Given the description of an element on the screen output the (x, y) to click on. 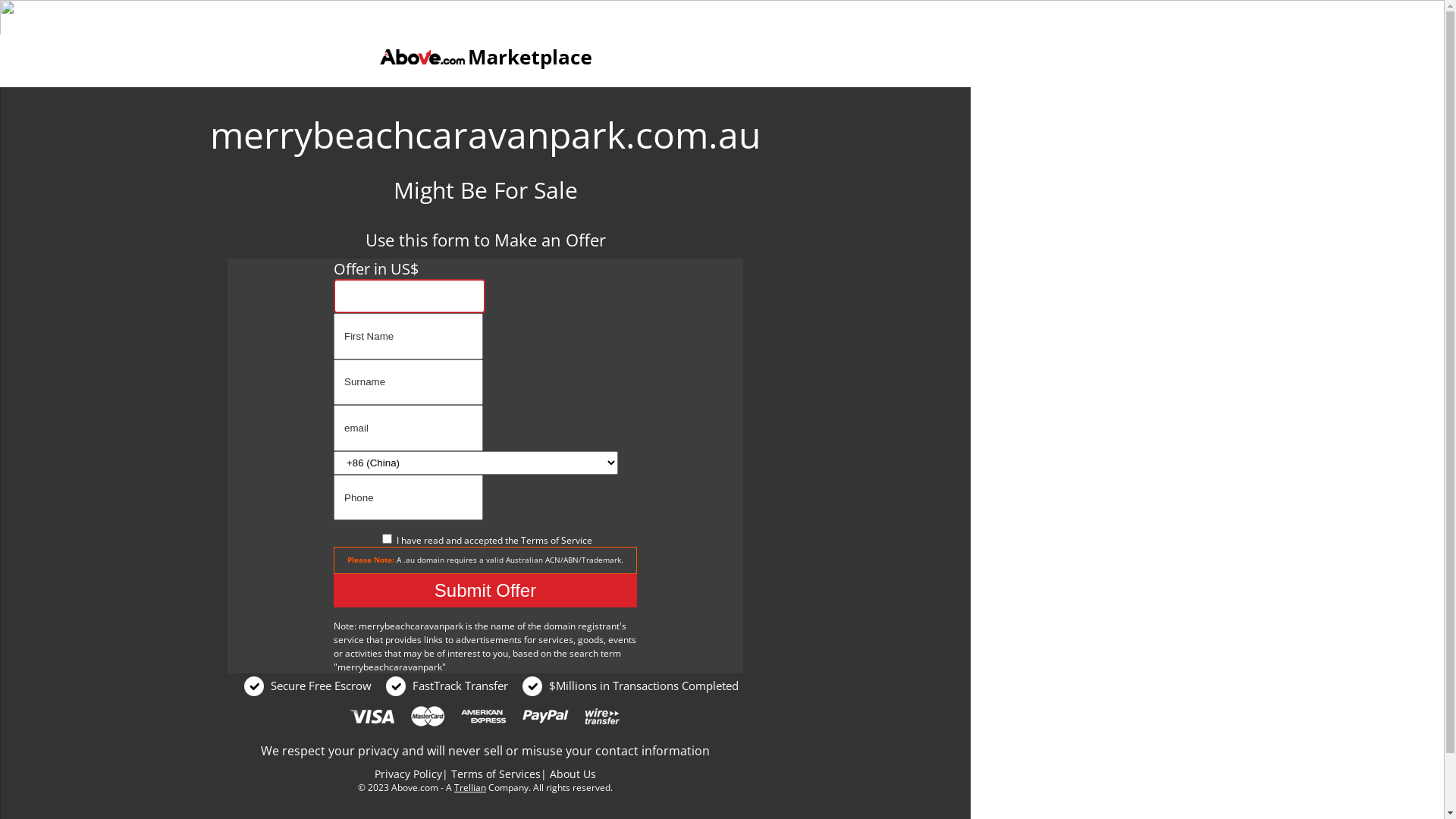
Trellian Element type: text (470, 787)
Terms of Services Element type: text (495, 773)
Terms Element type: text (533, 539)
Submit Offer Element type: text (485, 590)
Privacy Policy Element type: text (408, 773)
About Us Element type: text (572, 773)
